Given the description of an element on the screen output the (x, y) to click on. 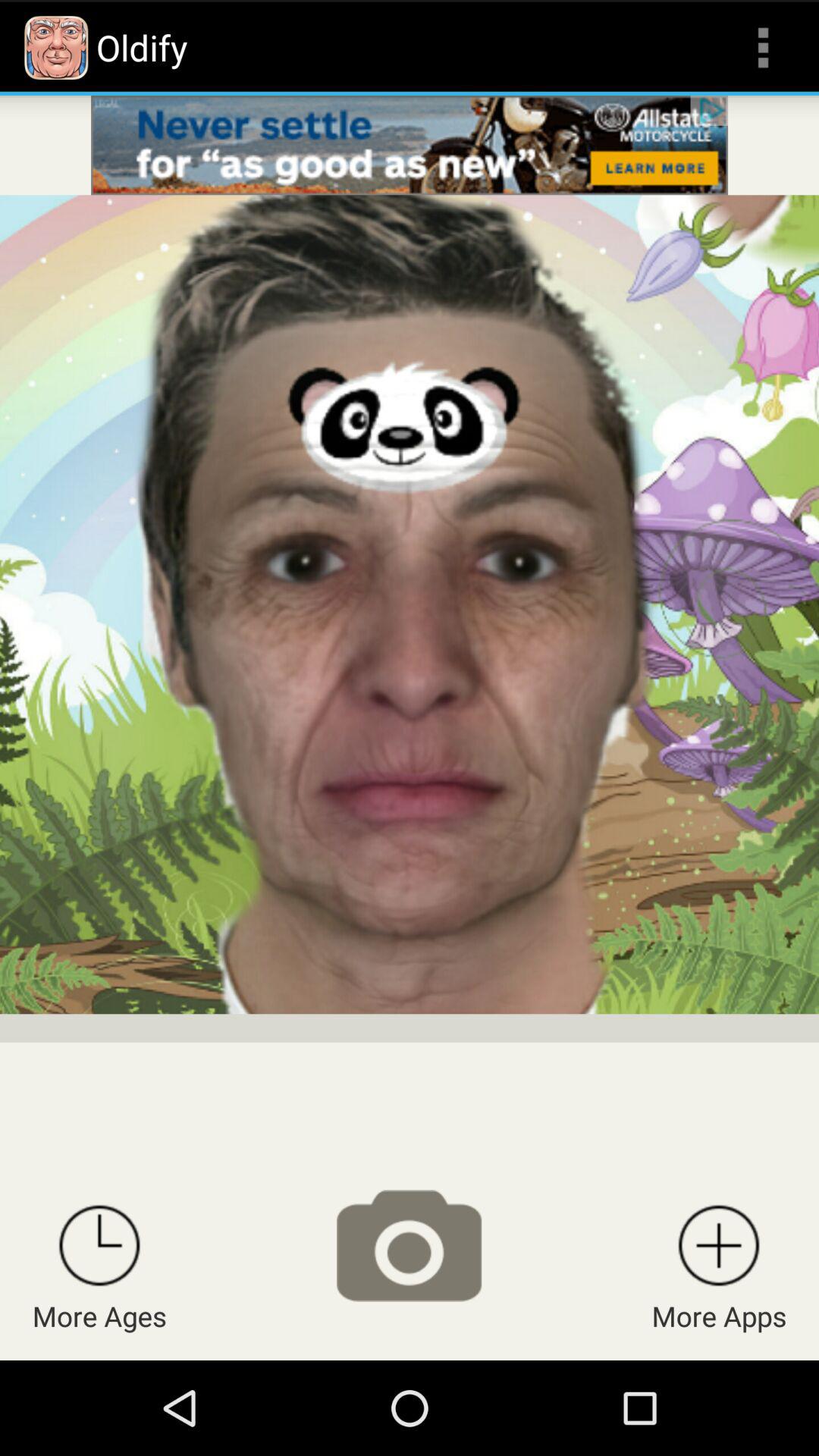
load more age filters (99, 1245)
